Given the description of an element on the screen output the (x, y) to click on. 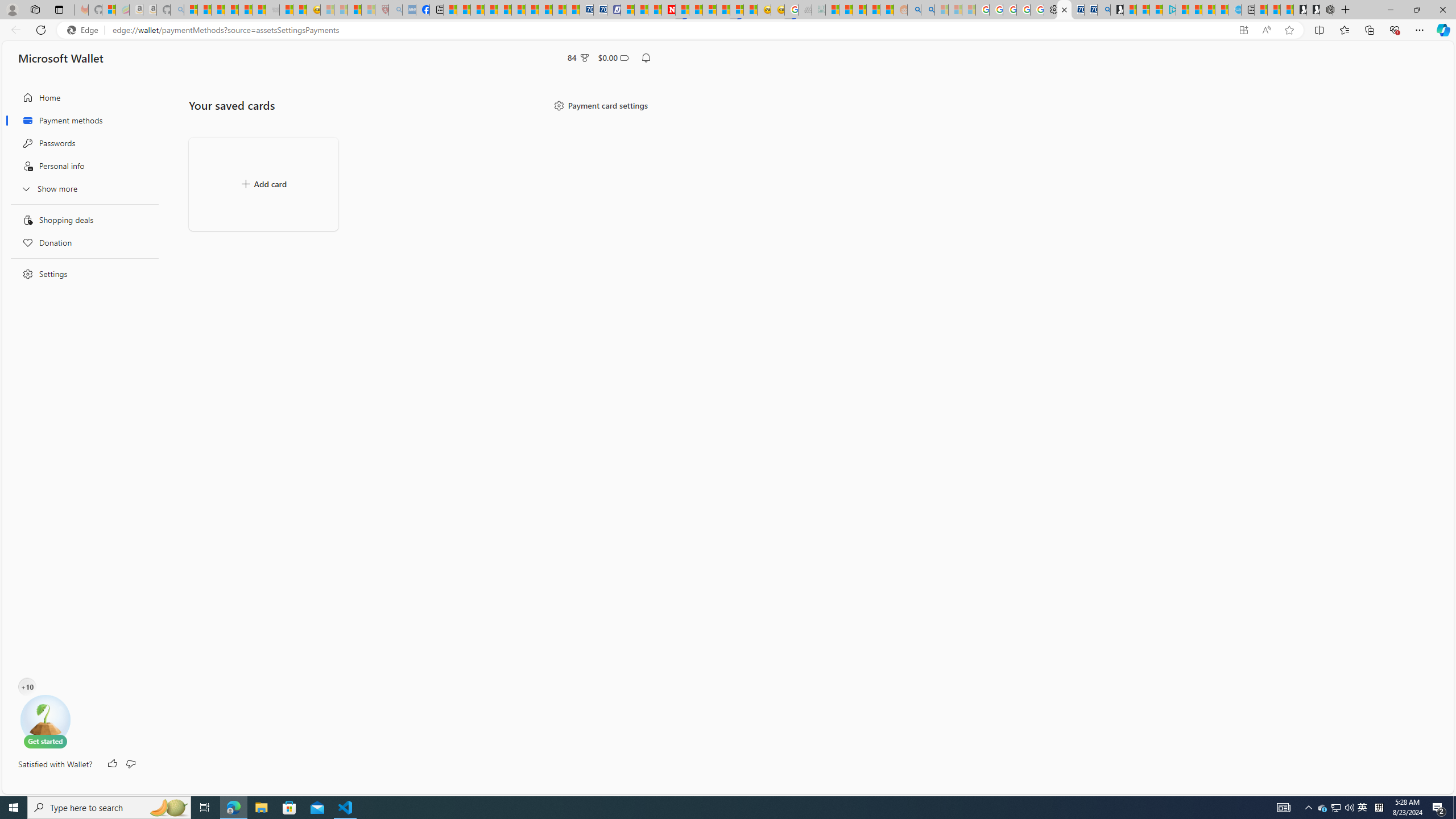
Newsweek - News, Analysis, Politics, Business, Technology (667, 9)
Microsoft Cashback - $0.00 (613, 57)
App available. Install Microsoft Wallet (1243, 29)
12 Popular Science Lies that Must be Corrected - Sleeping (368, 9)
